Given the description of an element on the screen output the (x, y) to click on. 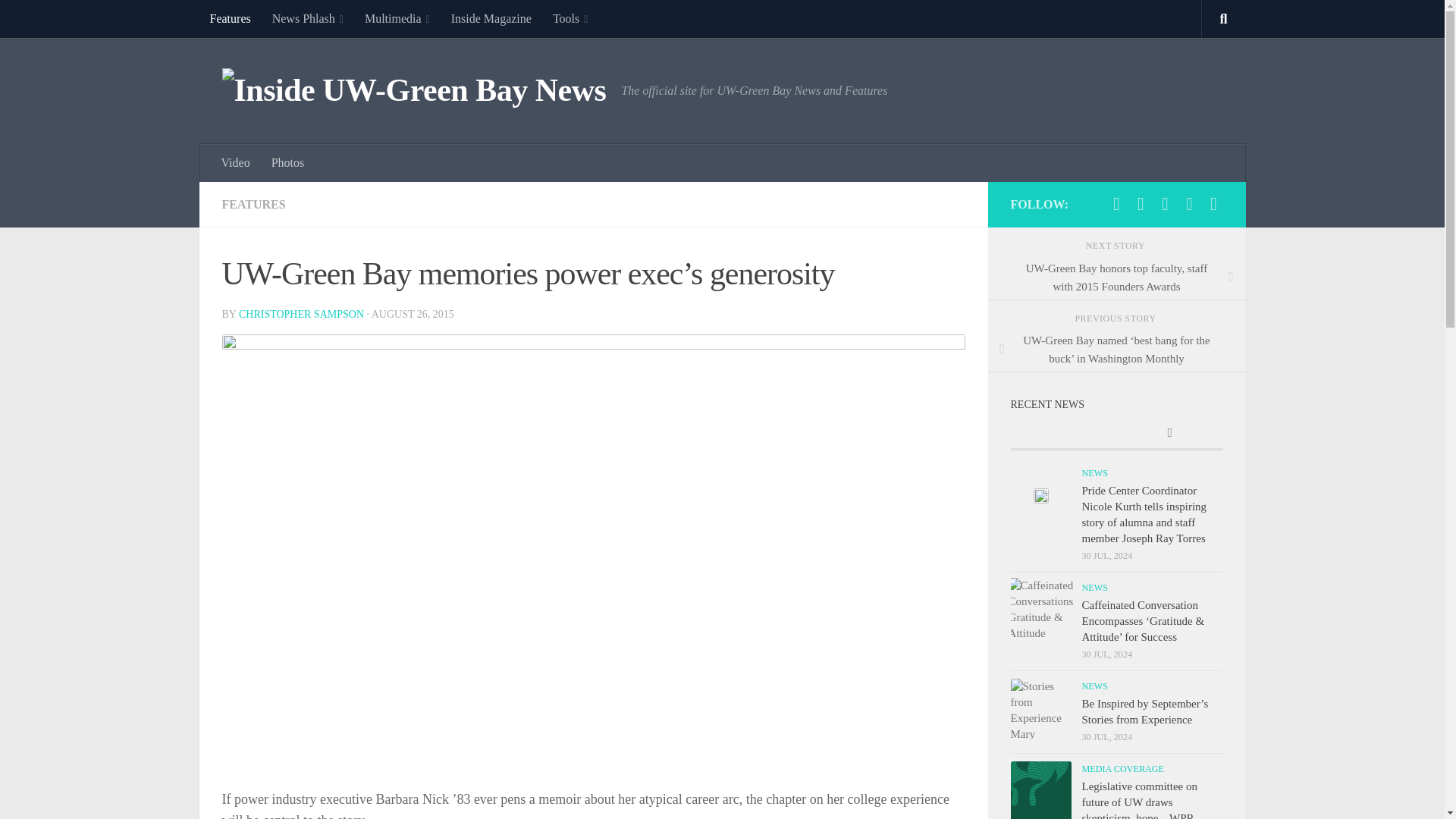
News Phlash (307, 18)
Multimedia (397, 18)
Email (1213, 203)
Inside Magazine (491, 18)
Video (235, 162)
Features (229, 18)
Photos (287, 162)
Tags (1169, 433)
FEATURES (253, 204)
Twitter (1140, 203)
Tools (569, 18)
YouTube (1188, 203)
Flickr (1164, 203)
